Given the description of an element on the screen output the (x, y) to click on. 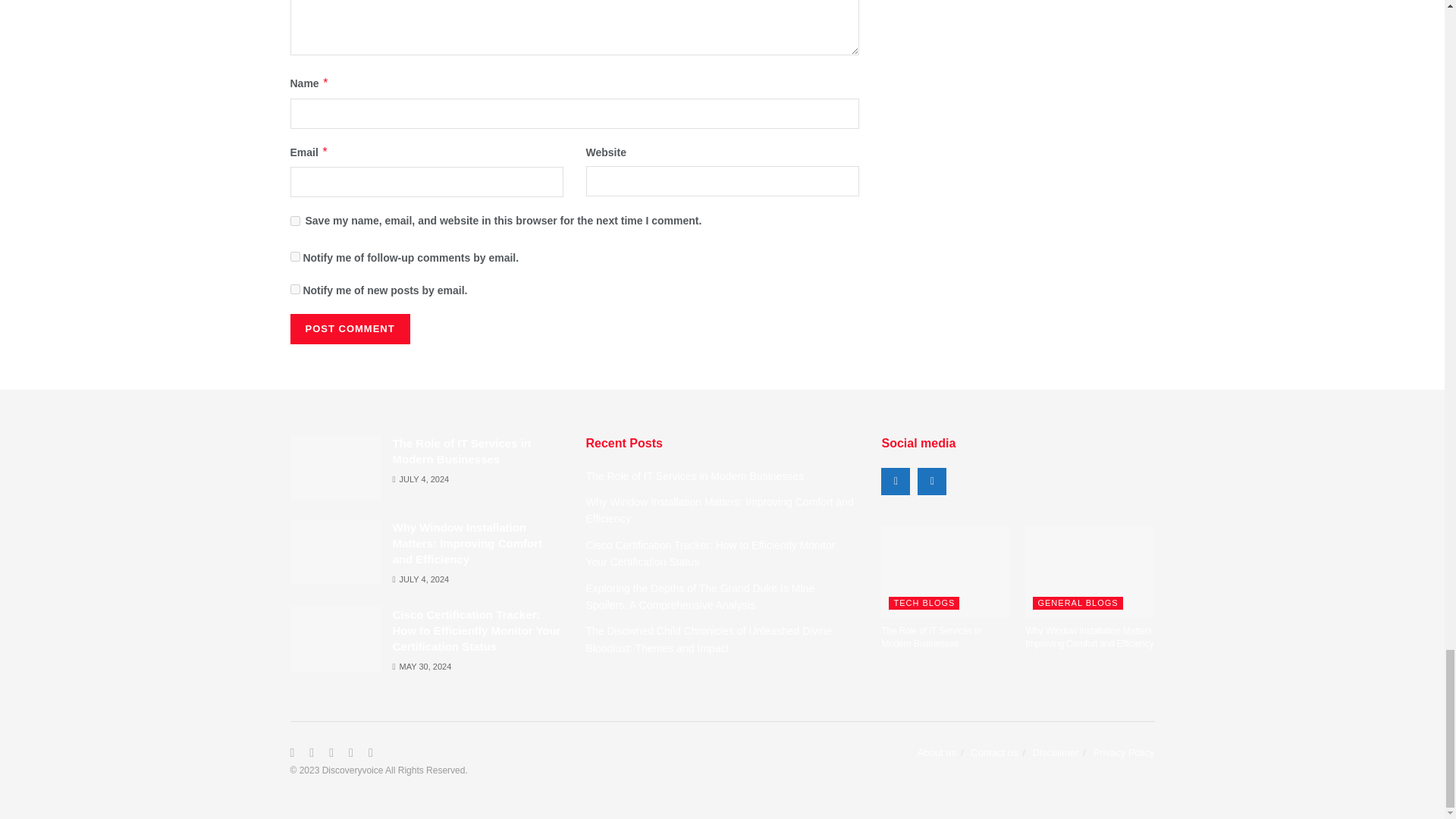
yes (294, 221)
Post Comment (349, 328)
subscribe (294, 289)
subscribe (294, 256)
